Given the description of an element on the screen output the (x, y) to click on. 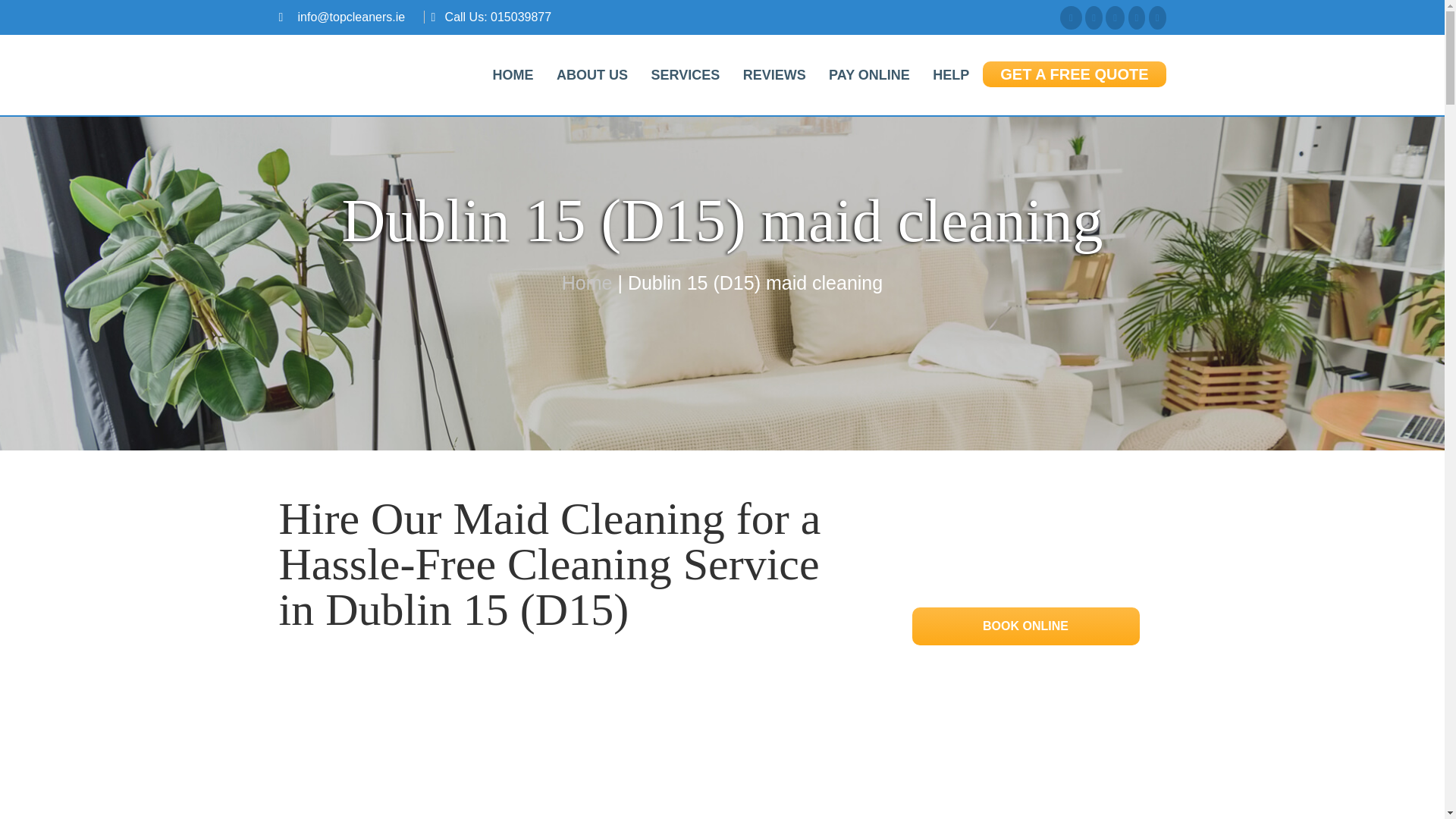
Call Us: 015039877 (498, 16)
BOOK ONLINE (1025, 625)
BOOK ONLINE (1024, 626)
REVIEWS (774, 74)
SERVICES (684, 74)
GET A FREE QUOTE (1074, 73)
ABOUT US (592, 74)
HOME (513, 74)
HELP (950, 74)
Home (587, 282)
PAY ONLINE (869, 74)
